Given the description of an element on the screen output the (x, y) to click on. 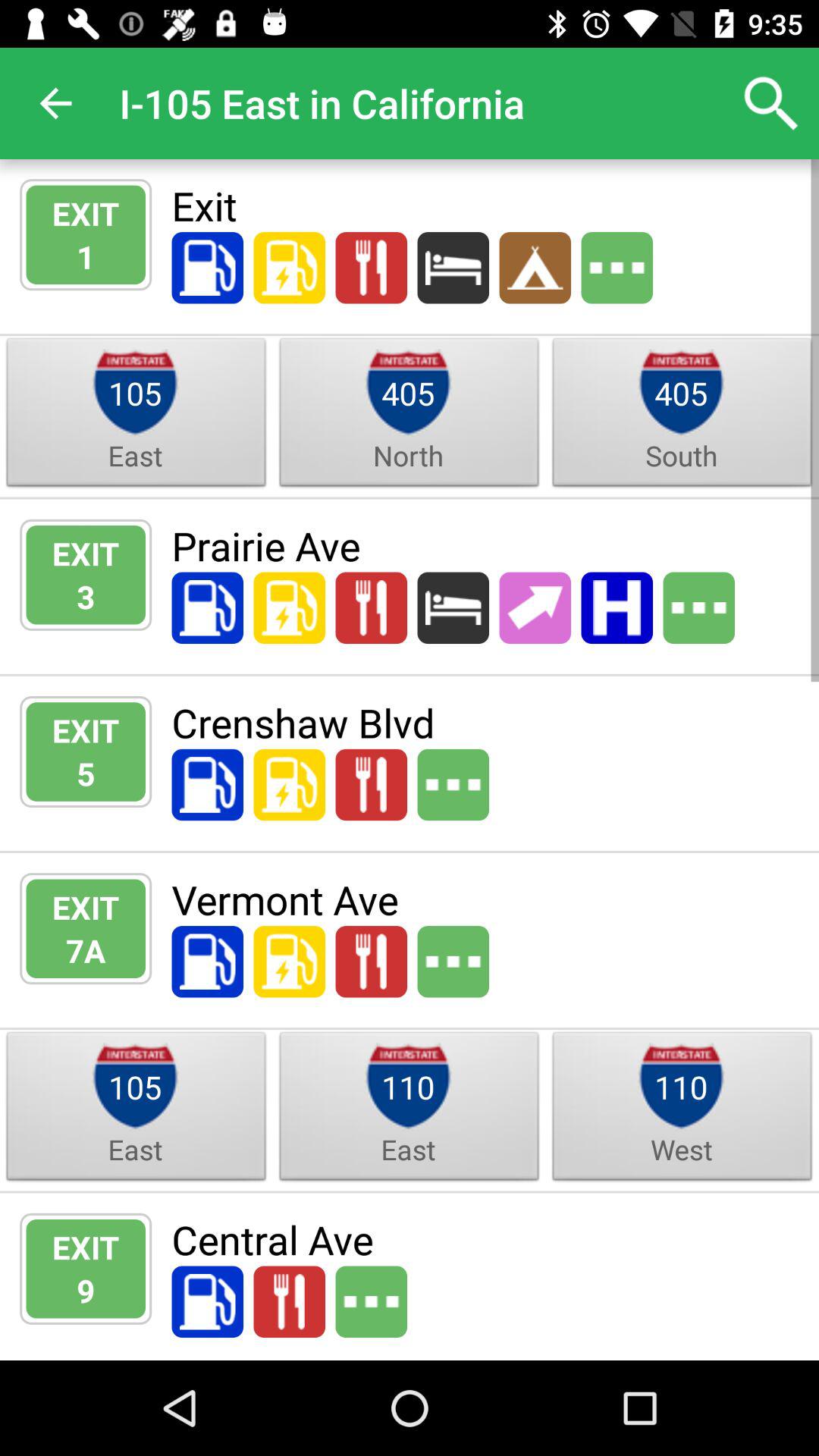
turn on the app next to i 105 east app (55, 103)
